Given the description of an element on the screen output the (x, y) to click on. 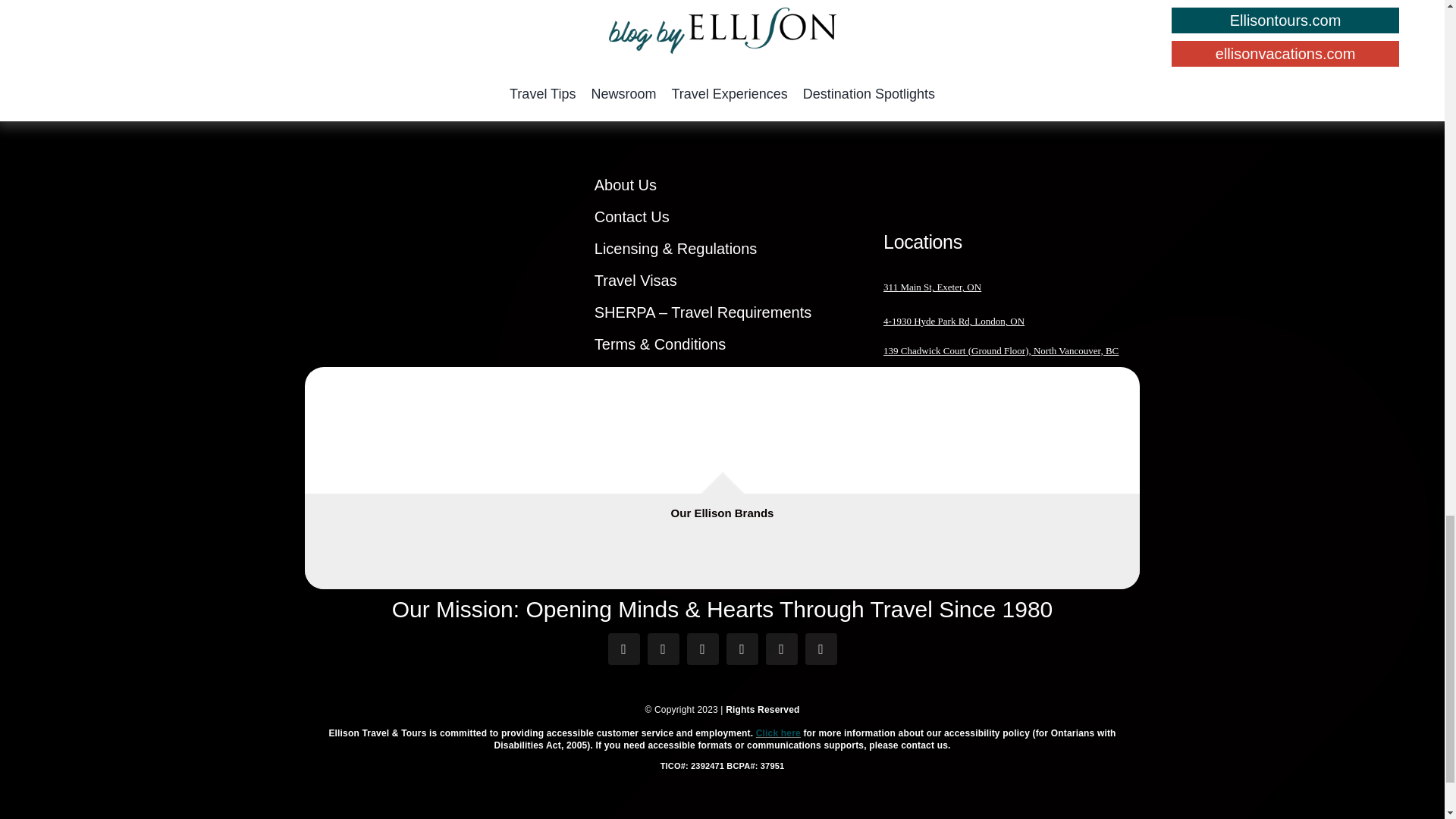
Click here (777, 733)
About Us (722, 184)
311 Main St, Exeter, ON (932, 286)
Travel Visas (722, 280)
Contact Us (722, 216)
4-1930 Hyde Park Rd, London, ON (954, 320)
